Given the description of an element on the screen output the (x, y) to click on. 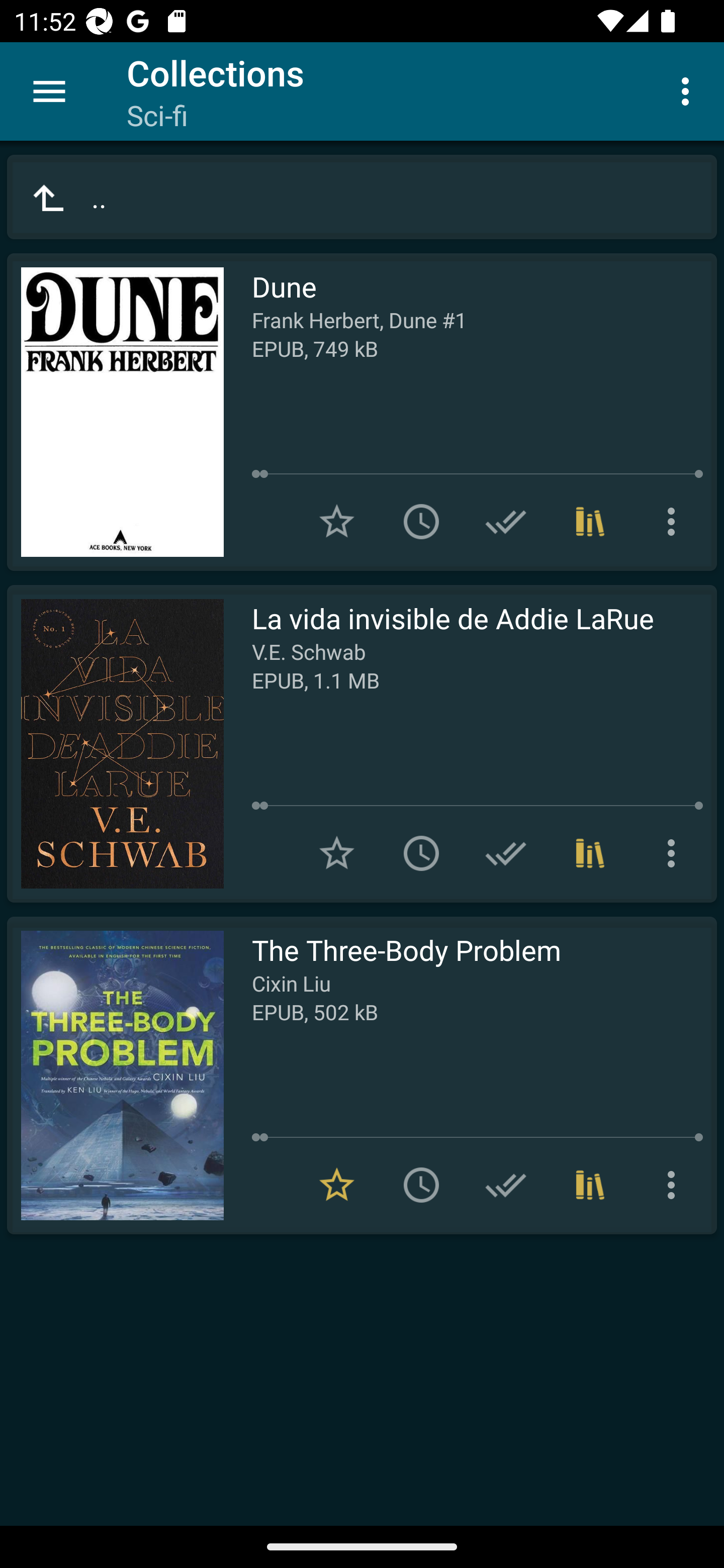
Menu (49, 91)
More options (688, 90)
.. (361, 197)
Read Dune (115, 412)
Add to Favorites (336, 521)
Add to To read (421, 521)
Add to Have read (505, 521)
Collections (1) (590, 521)
More options (674, 521)
Read La vida invisible de Addie LaRue (115, 743)
Add to Favorites (336, 852)
Add to To read (421, 852)
Add to Have read (505, 852)
Collections (1) (590, 852)
More options (674, 852)
Read The Three-Body Problem (115, 1075)
Remove from Favorites (336, 1185)
Add to To read (421, 1185)
Add to Have read (505, 1185)
Collections (1) (590, 1185)
More options (674, 1185)
